Given the description of an element on the screen output the (x, y) to click on. 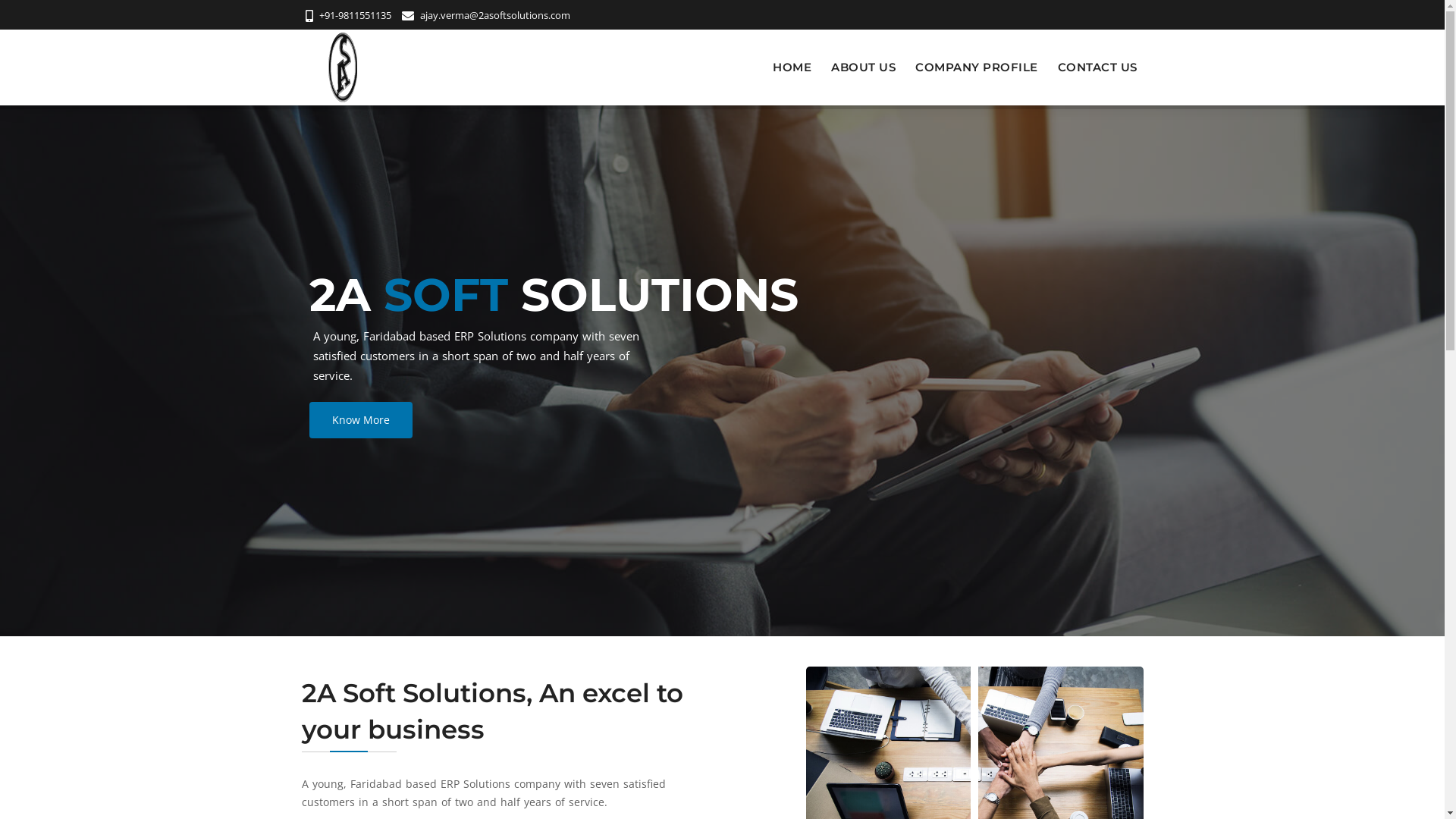
COMPANY PROFILE Element type: text (976, 67)
CONTACT US Element type: text (1096, 67)
ABOUT US Element type: text (863, 67)
Know More Element type: text (722, 419)
HOME Element type: text (791, 67)
